Given the description of an element on the screen output the (x, y) to click on. 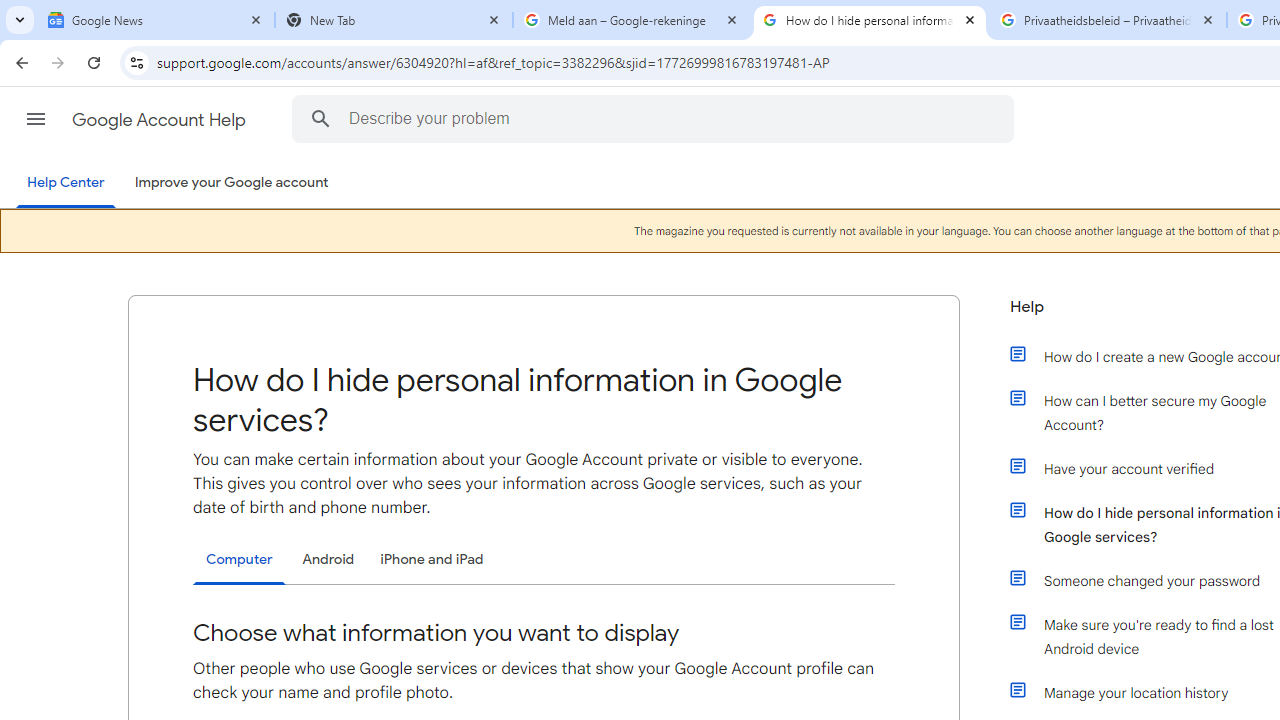
iPhone and iPad (431, 559)
Describe your problem (655, 118)
Improve your Google account (231, 183)
Google Account Help (160, 119)
